Given the description of an element on the screen output the (x, y) to click on. 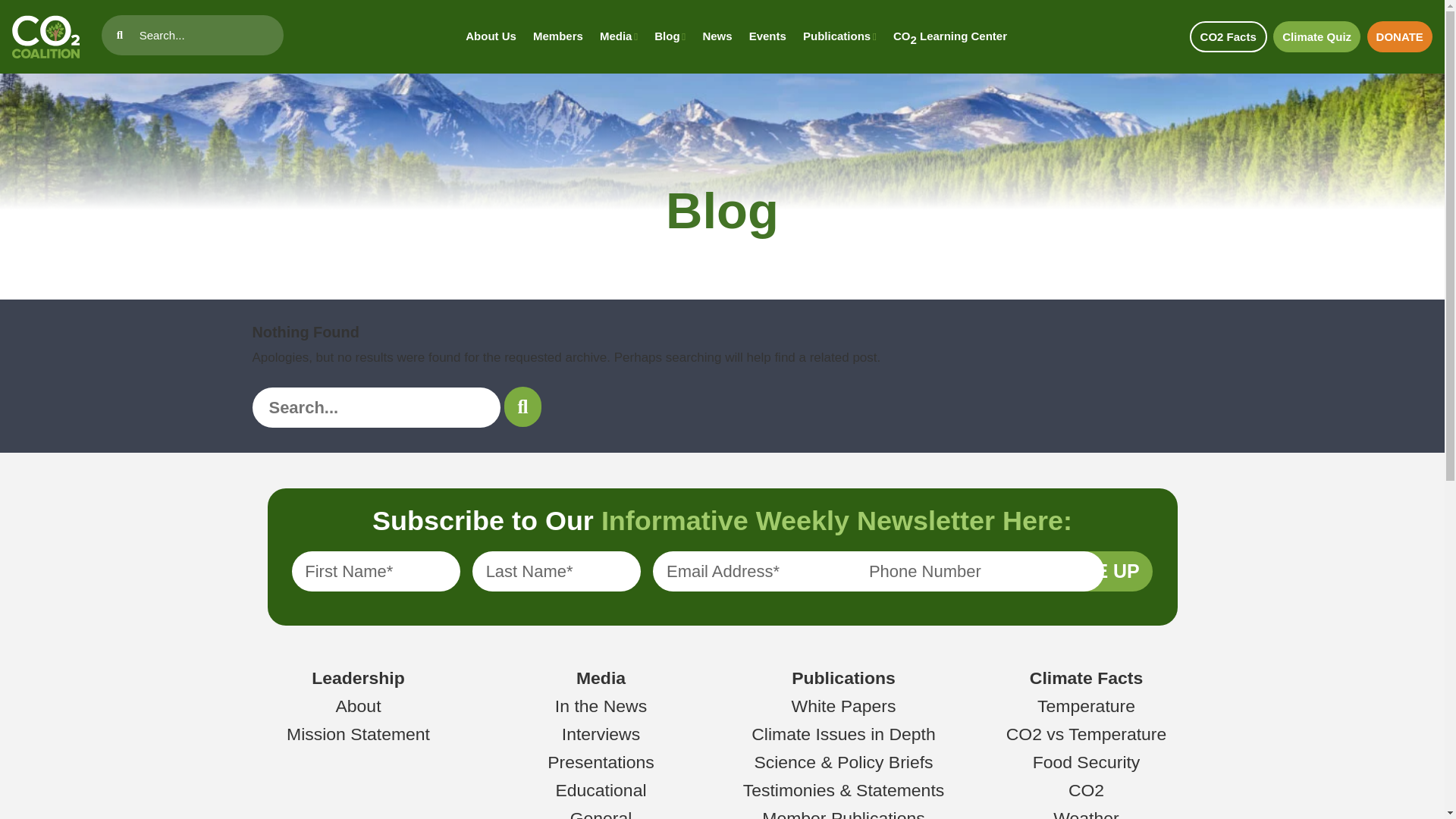
News (716, 36)
SIGN ME UP (1083, 571)
Leadership (357, 677)
Mission Statement (357, 733)
Climate Quiz (1315, 36)
About Us (490, 36)
Publications (843, 677)
Publications (839, 36)
Educational (600, 790)
SIGN ME UP (1083, 571)
DONATE (1399, 36)
Presentations (600, 762)
Members (557, 36)
White Papers (844, 705)
About (357, 705)
